Given the description of an element on the screen output the (x, y) to click on. 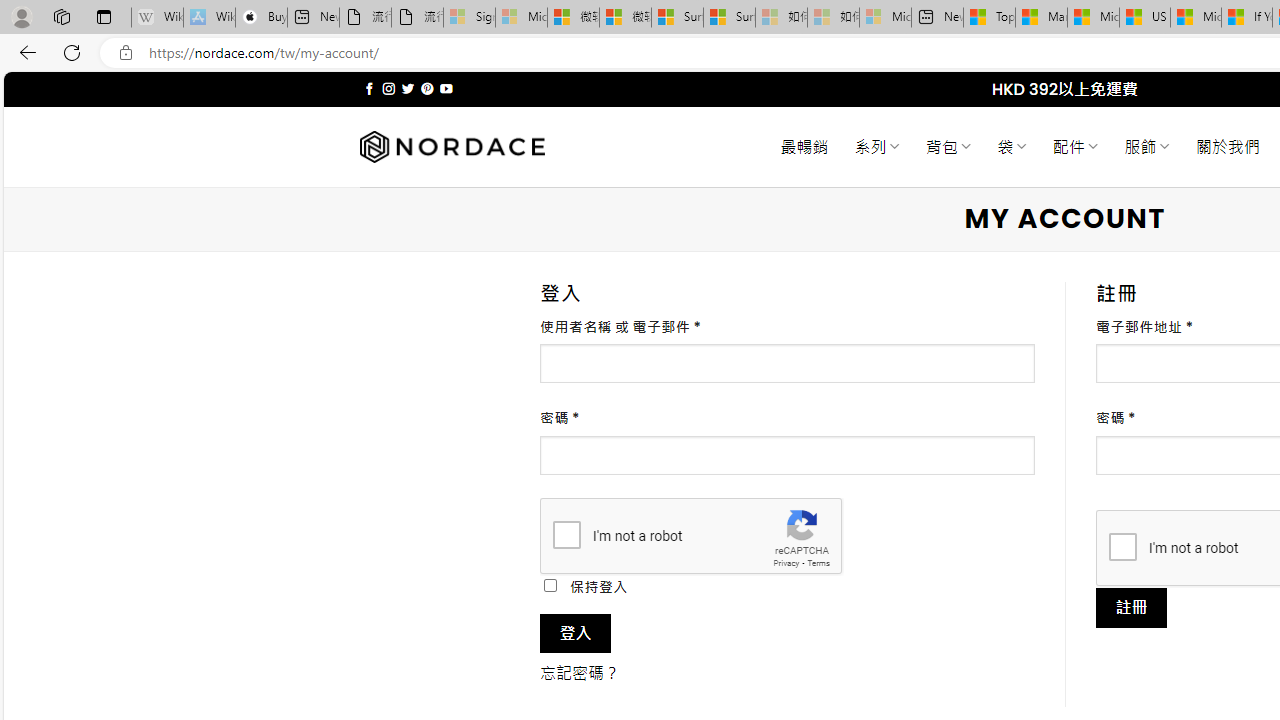
Microsoft account | Account Checkup - Sleeping (885, 17)
Sign in to your Microsoft account - Sleeping (469, 17)
Follow on Pinterest (427, 88)
Follow on Twitter (406, 88)
